Given the description of an element on the screen output the (x, y) to click on. 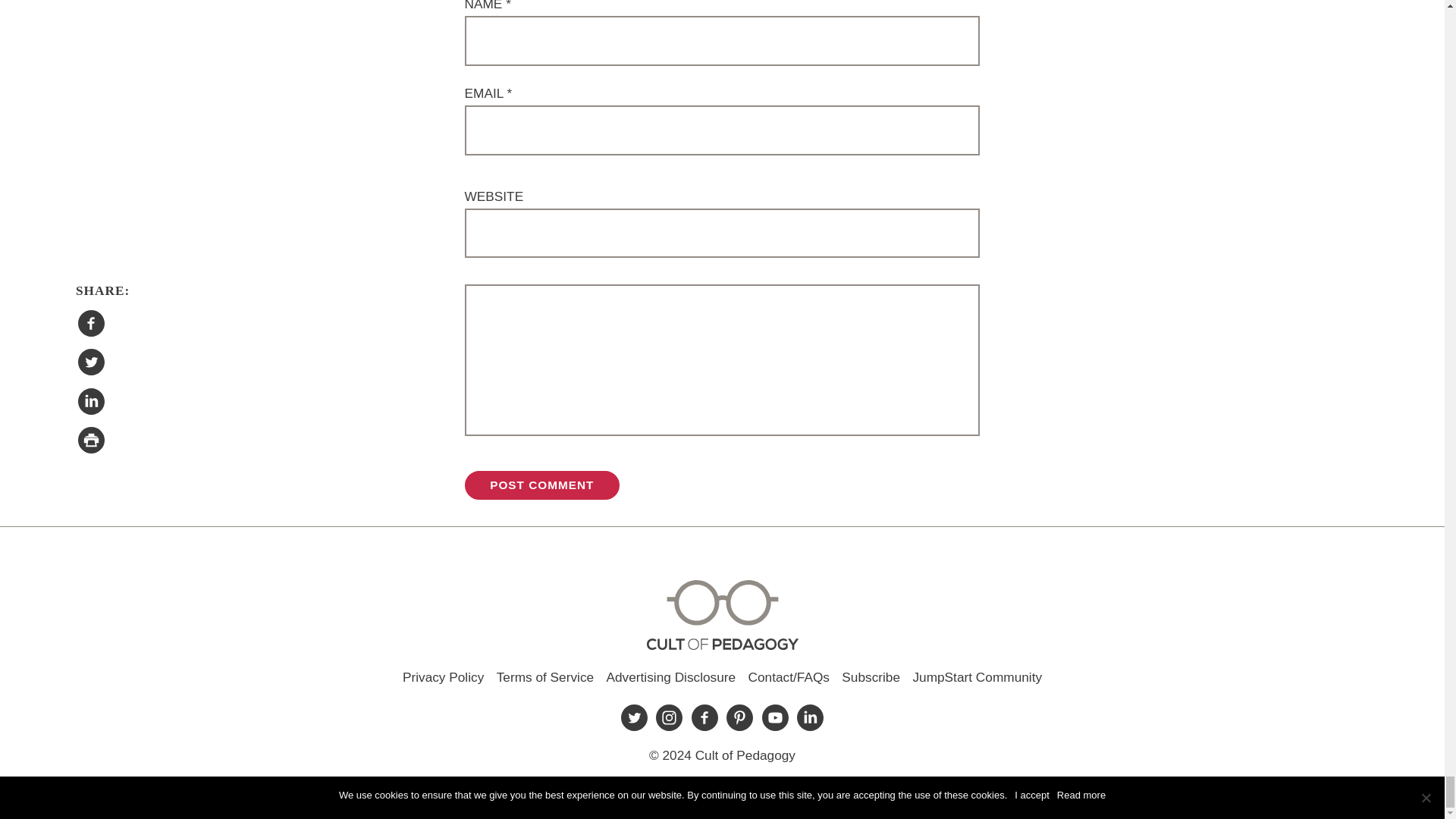
Post Comment (542, 485)
